Given the description of an element on the screen output the (x, y) to click on. 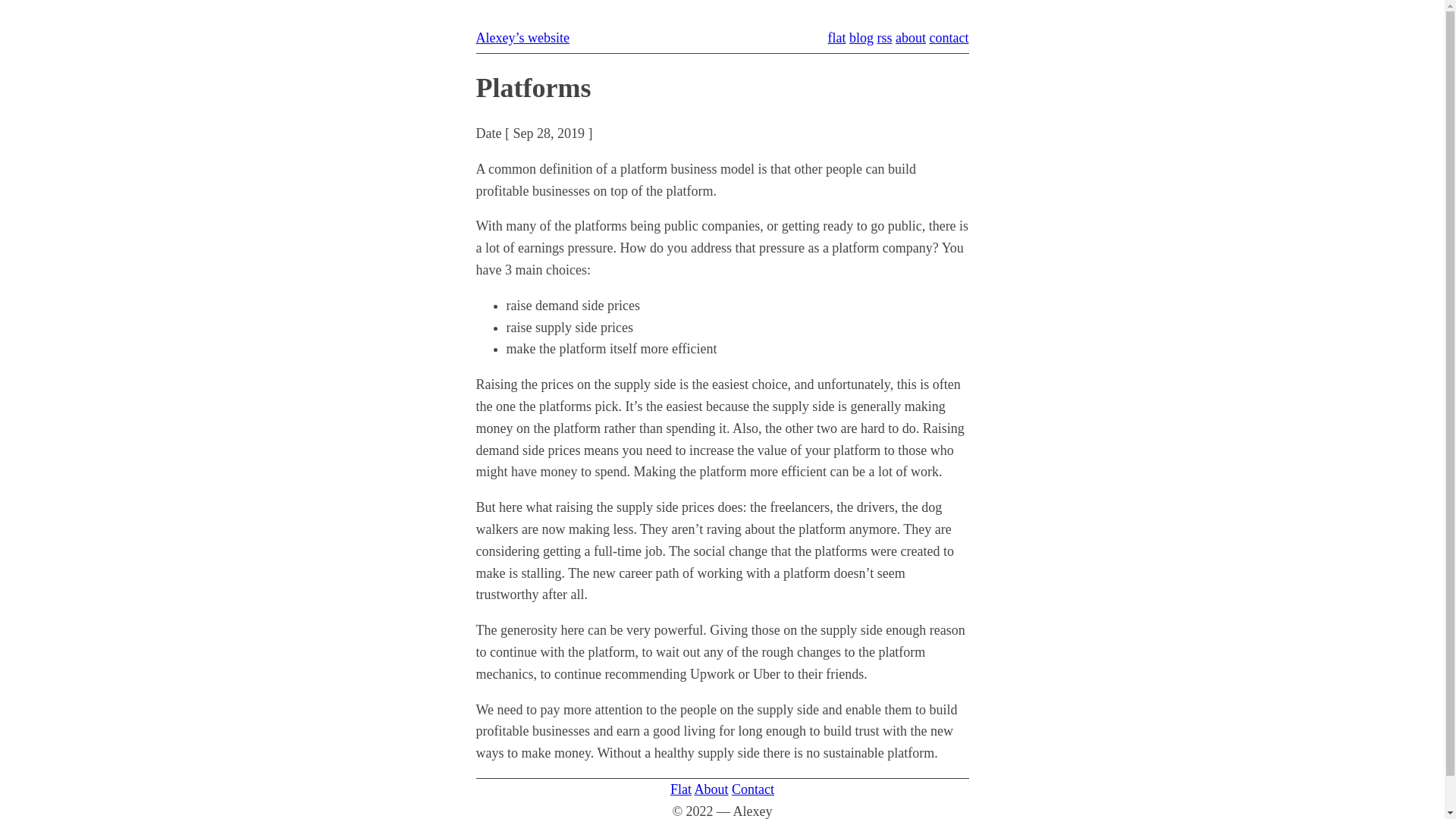
flat Element type: text (836, 37)
about Element type: text (910, 37)
contact Element type: text (949, 37)
blog Element type: text (861, 37)
Contact Element type: text (752, 789)
Flat Element type: text (680, 789)
rss Element type: text (883, 37)
About Element type: text (711, 789)
